Given the description of an element on the screen output the (x, y) to click on. 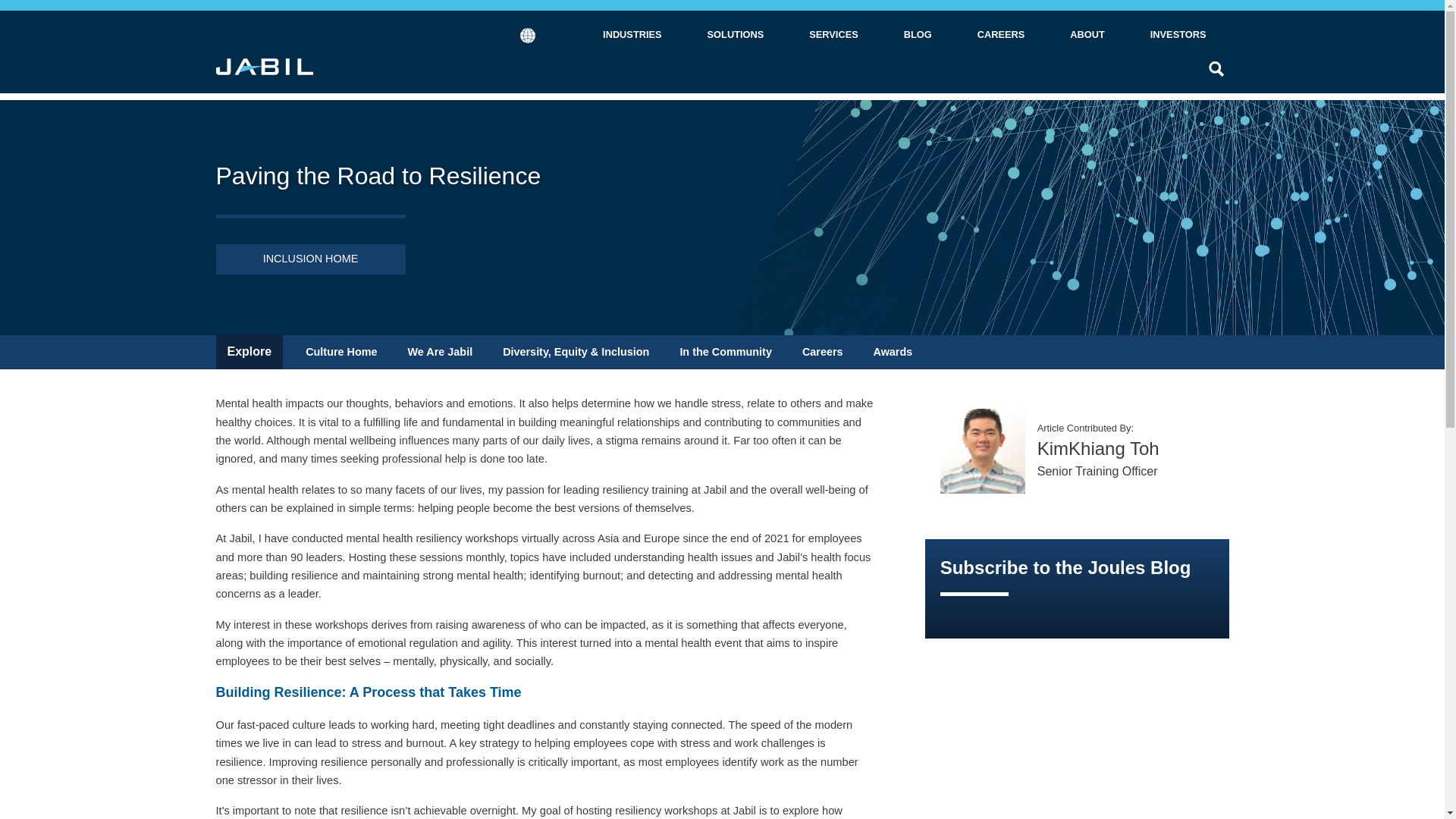
INDUSTRIES (631, 35)
Industries (632, 34)
Industries (631, 35)
SERVICES (833, 35)
SOLUTIONS (735, 35)
